Given the description of an element on the screen output the (x, y) to click on. 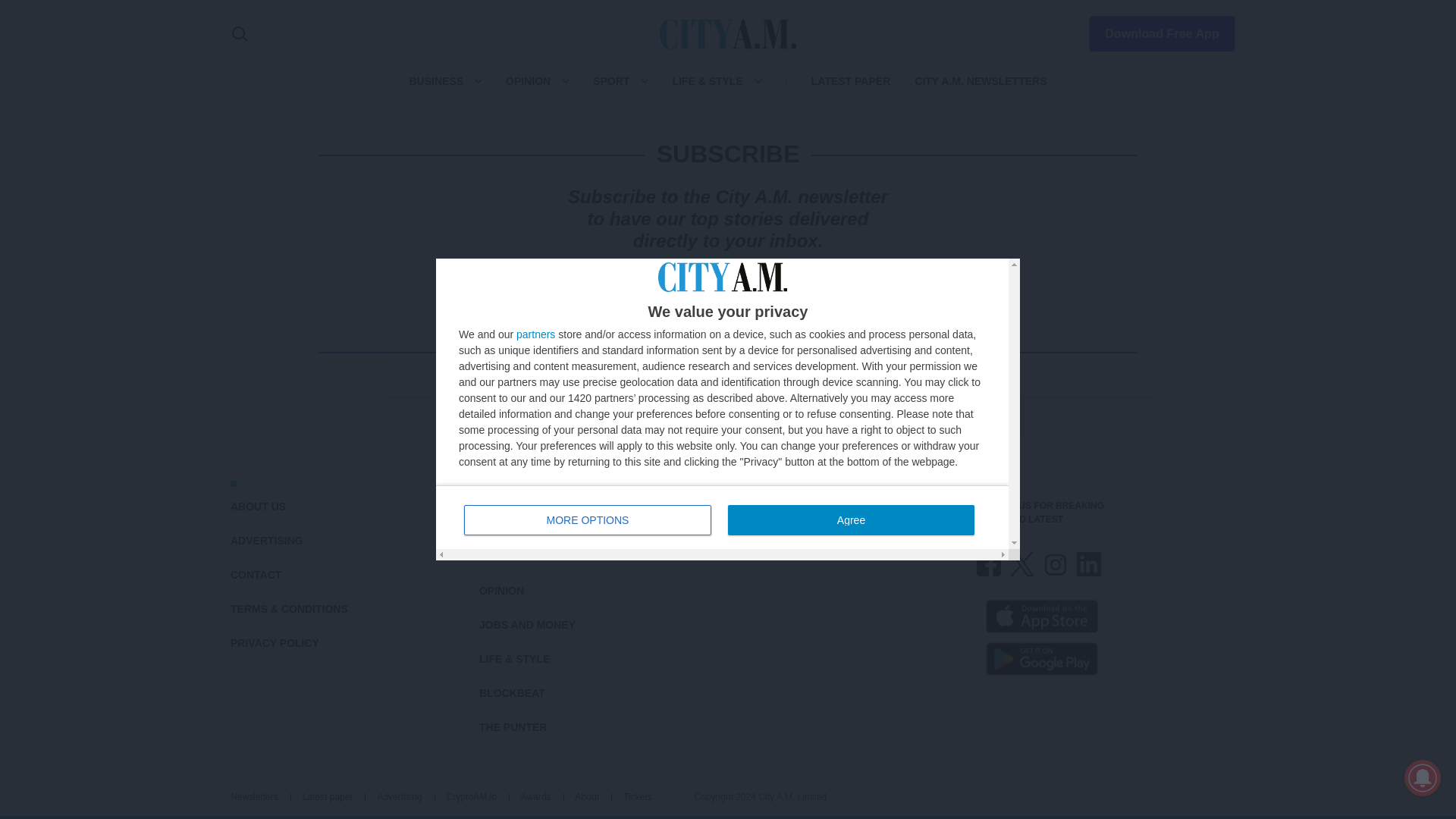
X (1021, 564)
INSTAGRAM (1055, 564)
FACEBOOK (988, 564)
LINKEDIN (1088, 564)
